Given the description of an element on the screen output the (x, y) to click on. 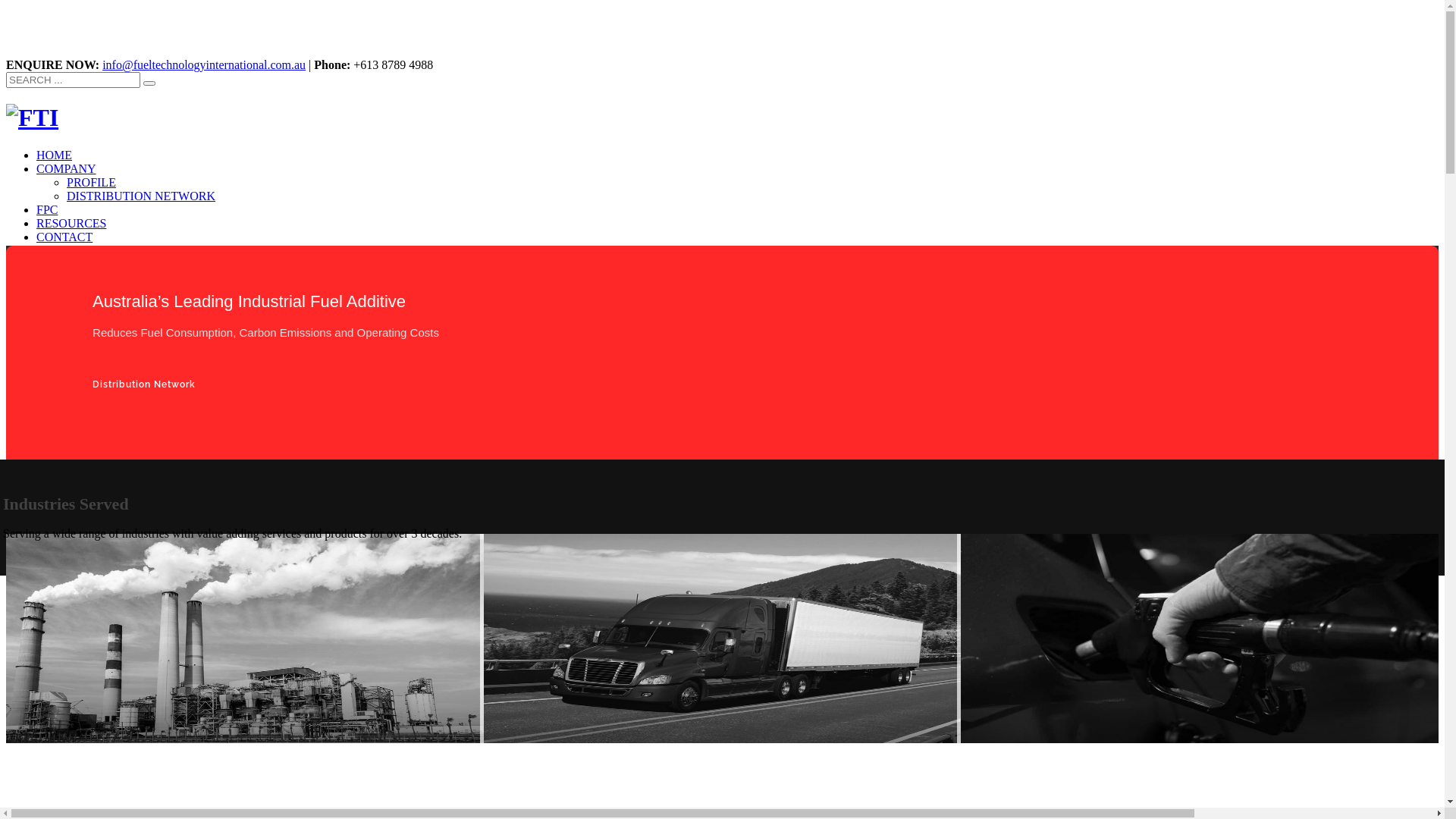
HOME Element type: text (54, 154)
DISTRIBUTION NETWORK Element type: text (140, 195)
PROFILE Element type: text (91, 181)
RESOURCES Element type: text (71, 222)
go Element type: text (149, 83)
COMPANY Element type: text (66, 168)
info@fueltechnologyinternational.com.au Element type: text (203, 64)
Fuel Technology International Element type: hover (32, 117)
FPC Element type: text (46, 209)
Distribution Network Element type: text (143, 383)
CONTACT Element type: text (64, 236)
